Given the description of an element on the screen output the (x, y) to click on. 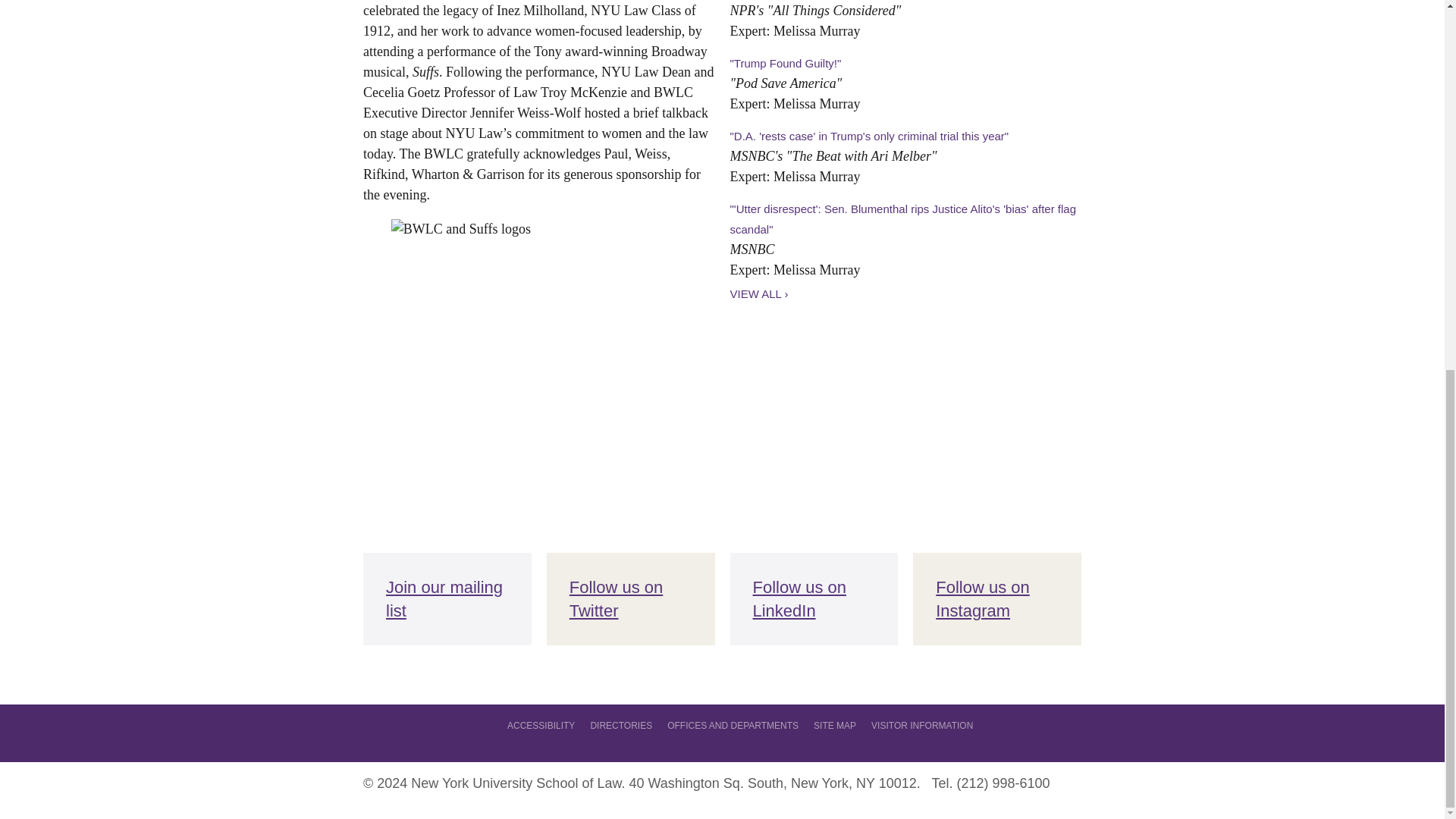
"D.A. 'rests case' in Trump's only criminal trial this year" (869, 135)
"Trump Found Guilty!" (785, 62)
